Given the description of an element on the screen output the (x, y) to click on. 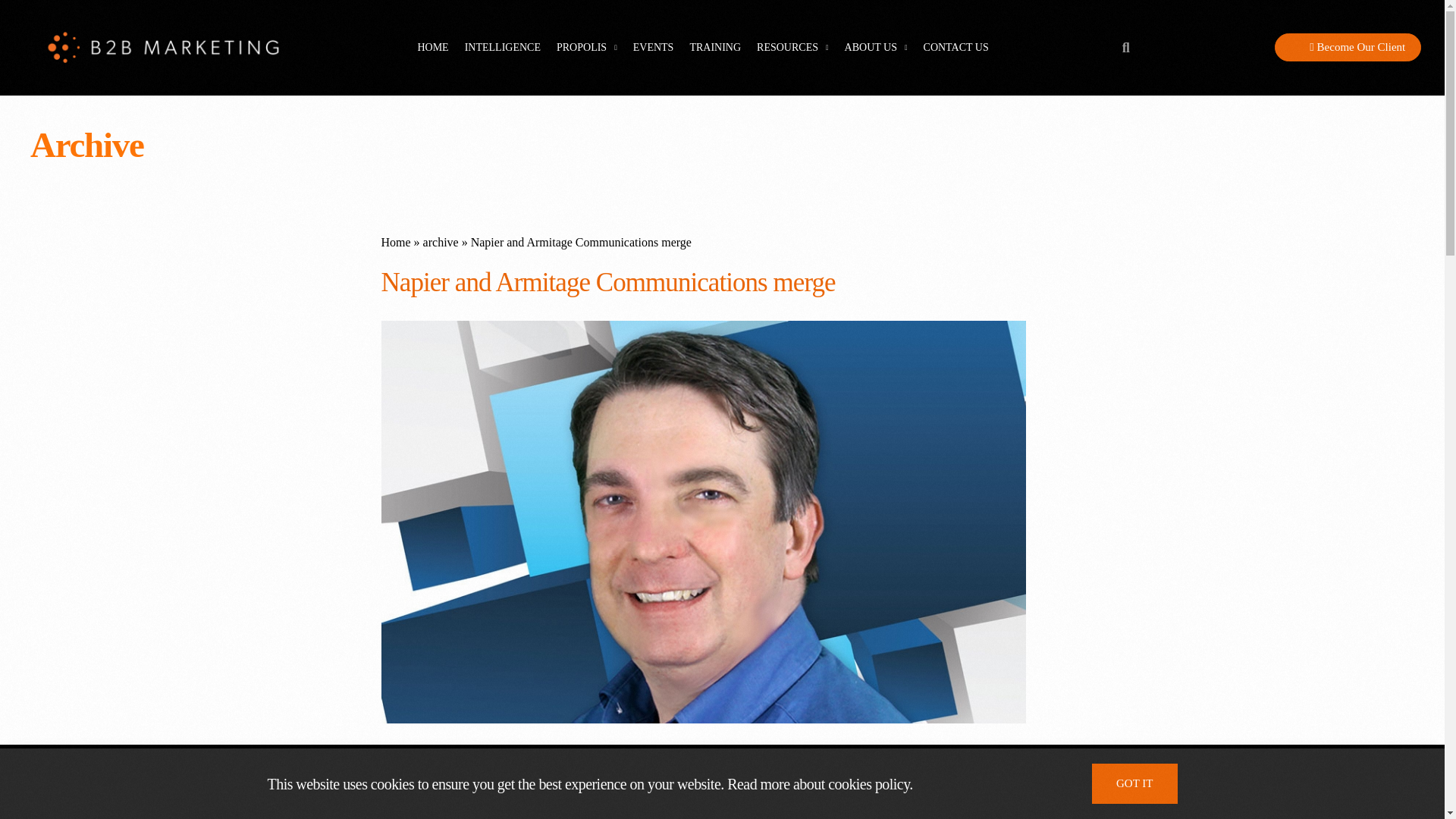
EVENTS (653, 47)
PROPOLIS (586, 47)
INTELLIGENCE (502, 47)
RESOURCES (792, 47)
Become Our Client (1348, 47)
CONTACT US (955, 47)
ABOUT US (875, 47)
TRAINING (714, 47)
